Given the description of an element on the screen output the (x, y) to click on. 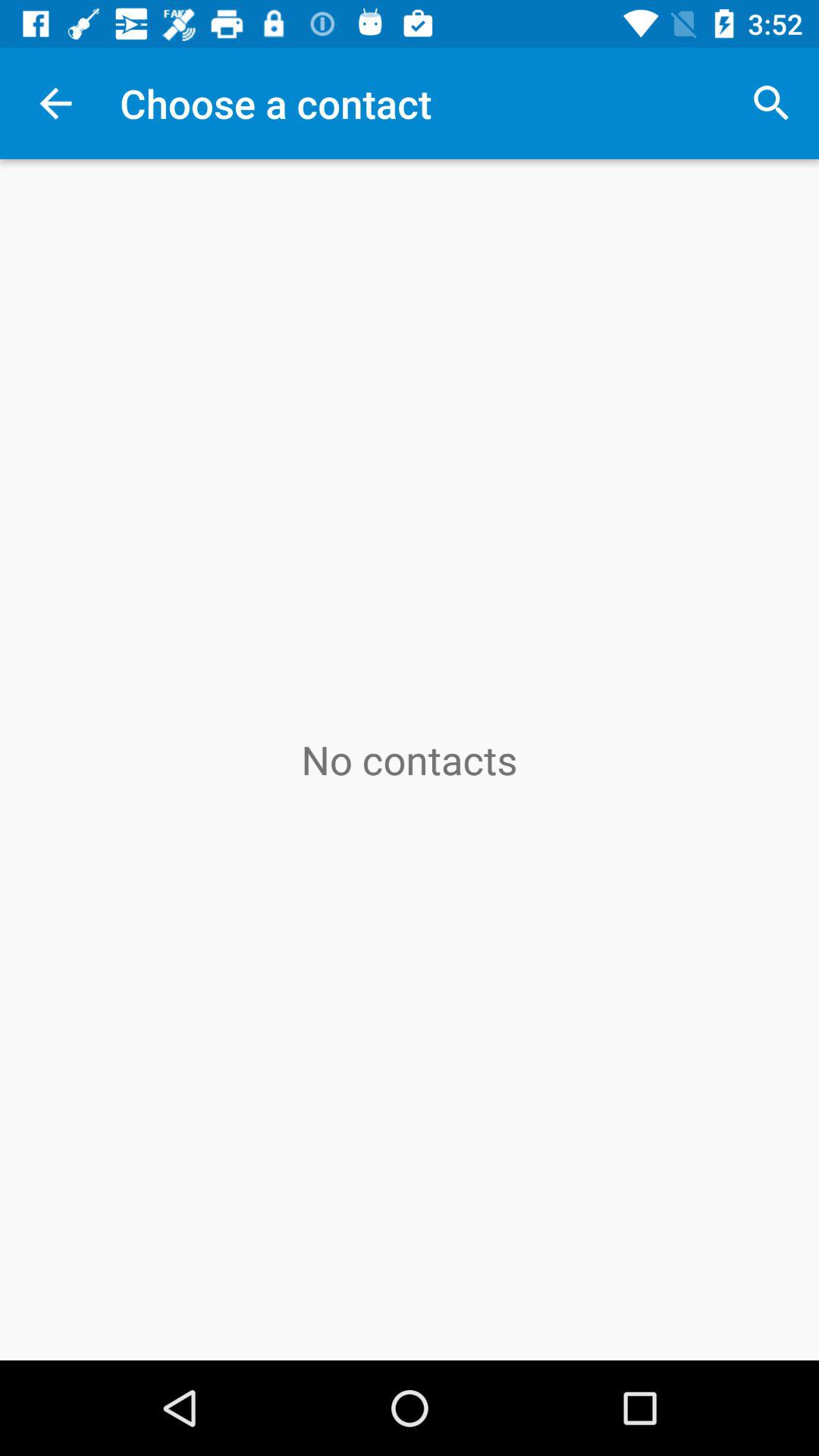
tap icon to the right of the choose a contact app (771, 103)
